Given the description of an element on the screen output the (x, y) to click on. 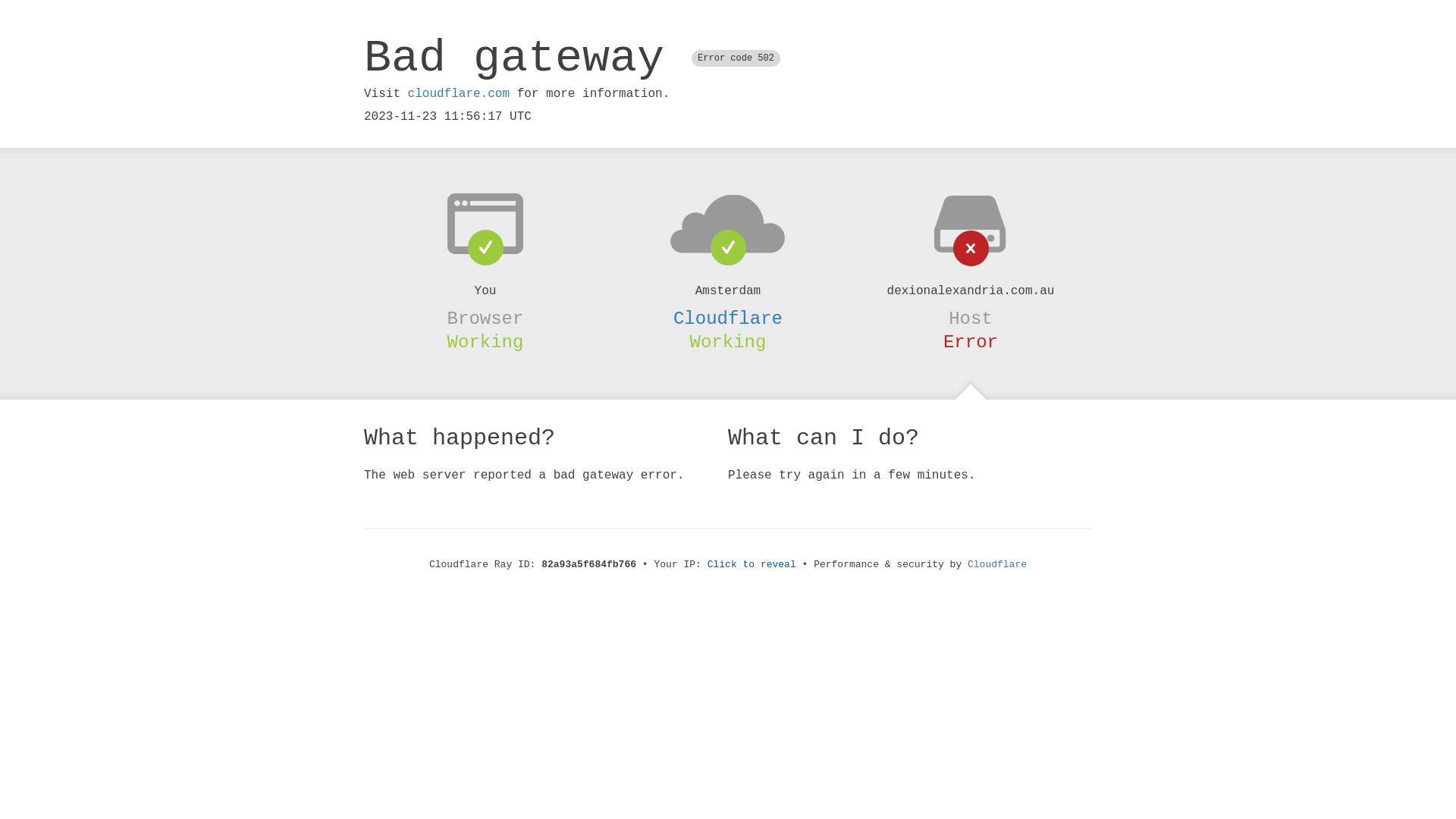
Cloudflare Element type: text (996, 564)
Click to reveal Element type: text (751, 564)
Cloudflare Element type: text (727, 318)
cloudflare.com Element type: text (458, 93)
